Given the description of an element on the screen output the (x, y) to click on. 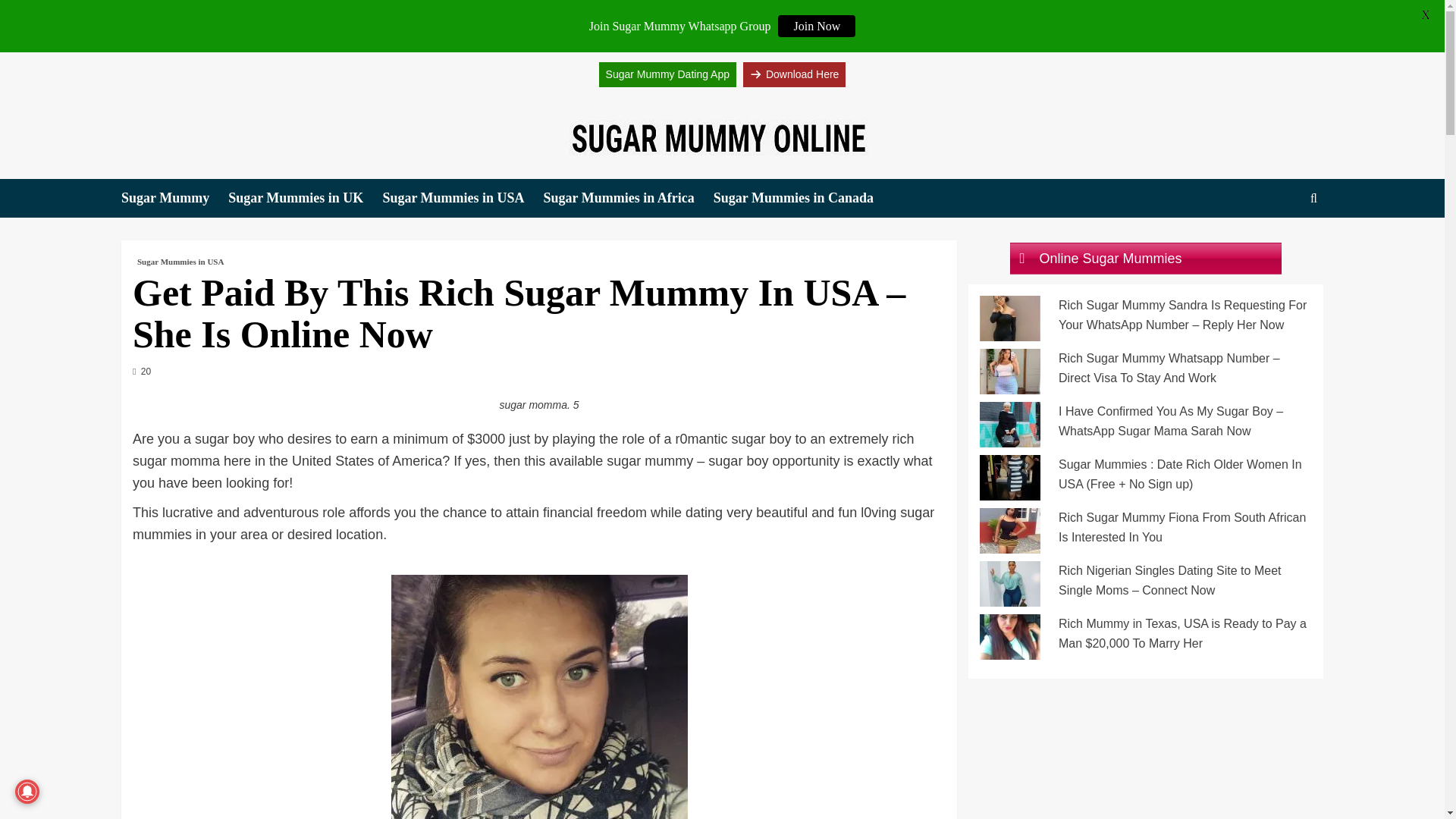
Sugar Mummies in USA (462, 198)
Sugar Mummies in Africa (628, 198)
20 (141, 371)
Search (1313, 198)
Sugar Mummies in UK (304, 198)
Sugar Mummy Dating App (667, 74)
Sugar Mummies in Canada (802, 198)
Search (1278, 245)
Download Here (793, 74)
Sugar Mummies in USA (180, 261)
Sugar Mummy (174, 198)
sugar momma. 5 (539, 696)
